Given the description of an element on the screen output the (x, y) to click on. 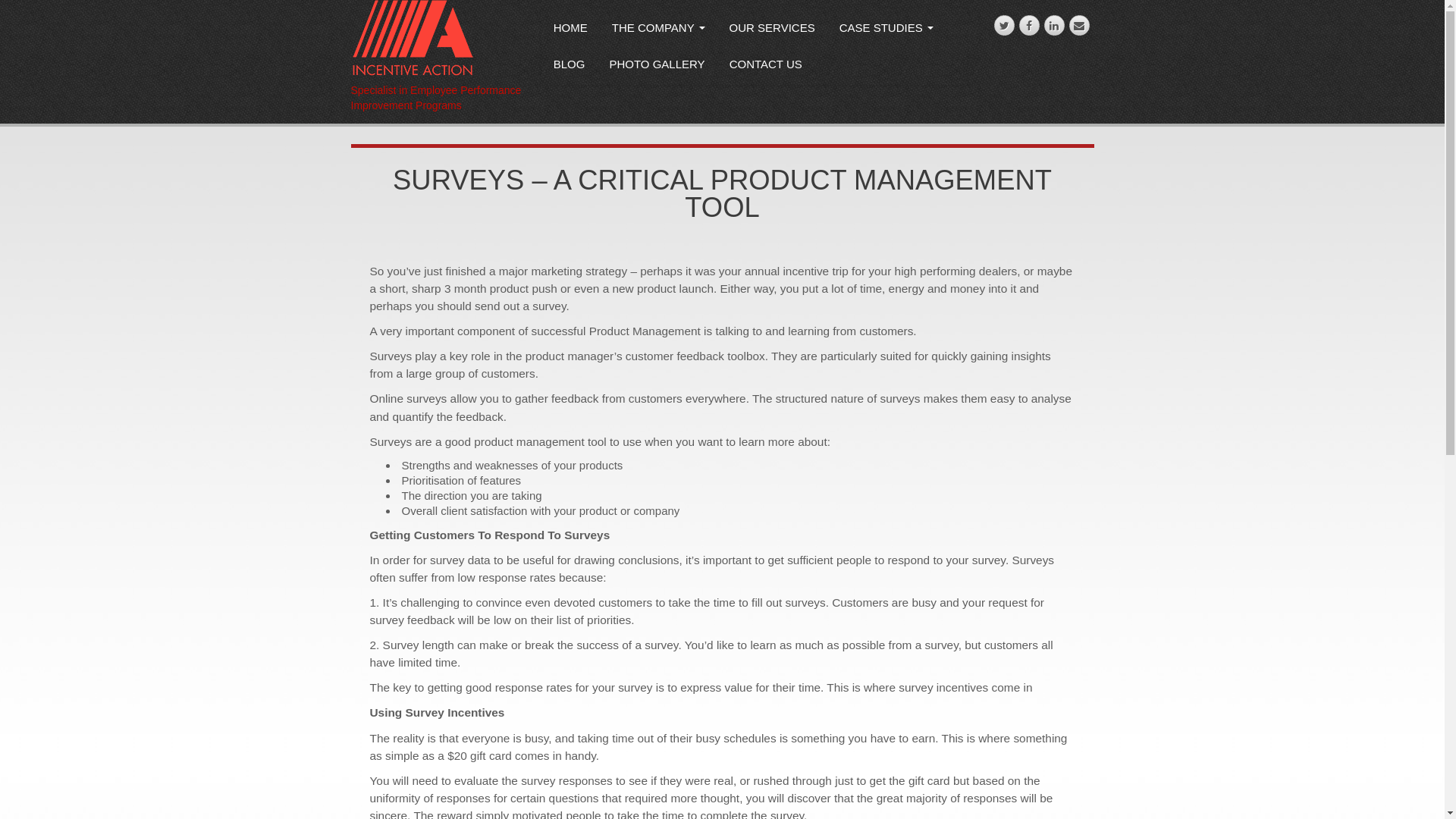
PHOTO GALLERY Element type: text (656, 66)
HOME Element type: text (570, 29)
Incentive Action Linkedin Element type: hover (1053, 25)
Incentive Action Element type: hover (412, 37)
BLOG Element type: text (569, 66)
Incentive Action Twitter Element type: hover (1003, 25)
THE COMPANY Element type: text (658, 29)
CASE STUDIES Element type: text (886, 29)
OUR SERVICES Element type: text (772, 29)
Incentive Action Email Element type: hover (1079, 25)
Incentive Action Facebook Element type: hover (1029, 25)
CONTACT US Element type: text (765, 66)
